Given the description of an element on the screen output the (x, y) to click on. 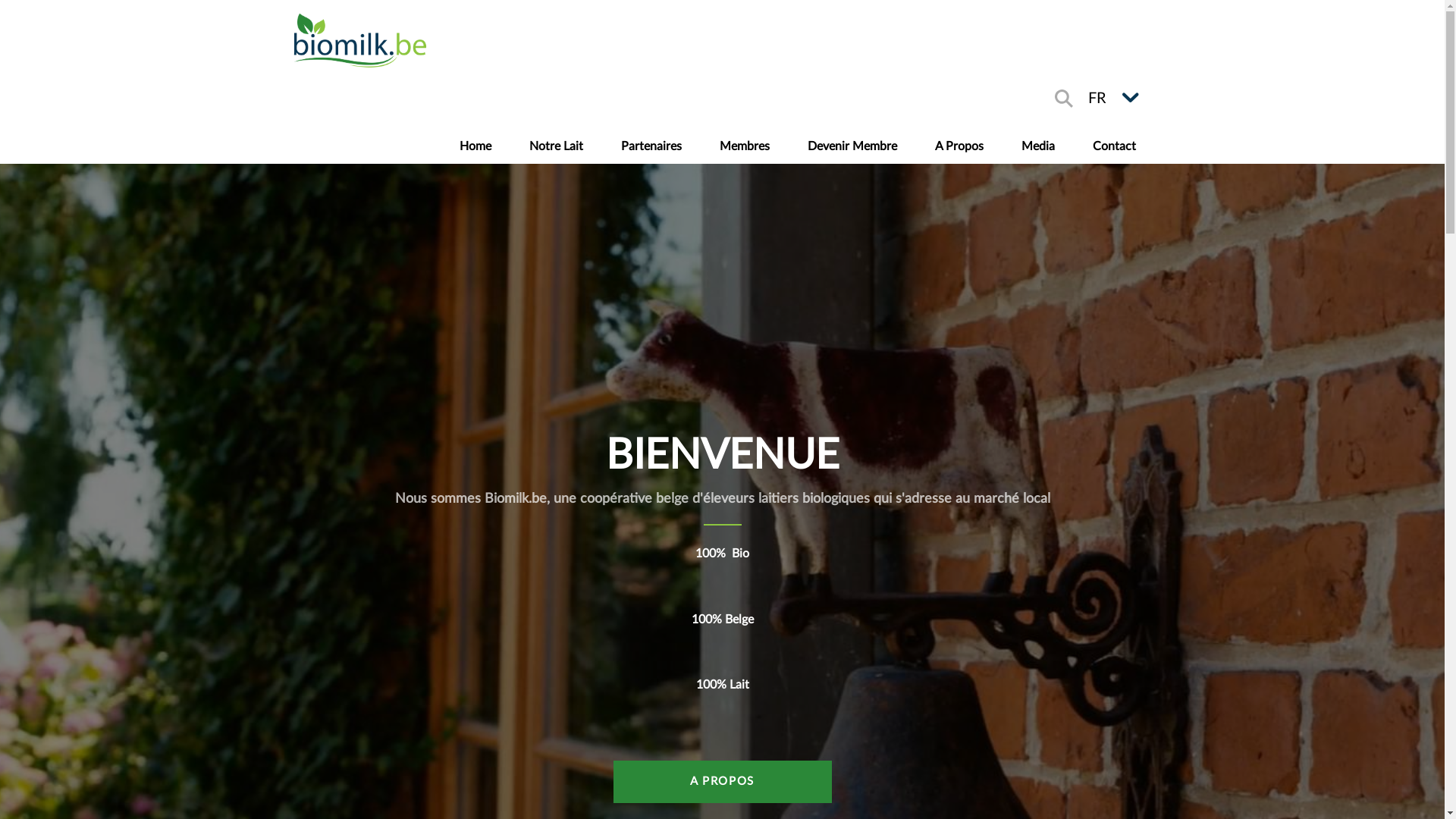
Media Element type: text (1037, 145)
Search Element type: text (1063, 98)
A Propos Element type: text (959, 145)
Contact Element type: text (1113, 145)
Membres Element type: text (744, 145)
Partenaires Element type: text (651, 145)
Home Element type: text (474, 145)
Skip to main content Element type: text (721, 1)
A PROPOS Element type: text (721, 781)
Devenir Membre Element type: text (852, 145)
Notre Lait Element type: text (555, 145)
Skip to the home page Element type: hover (359, 39)
